Given the description of an element on the screen output the (x, y) to click on. 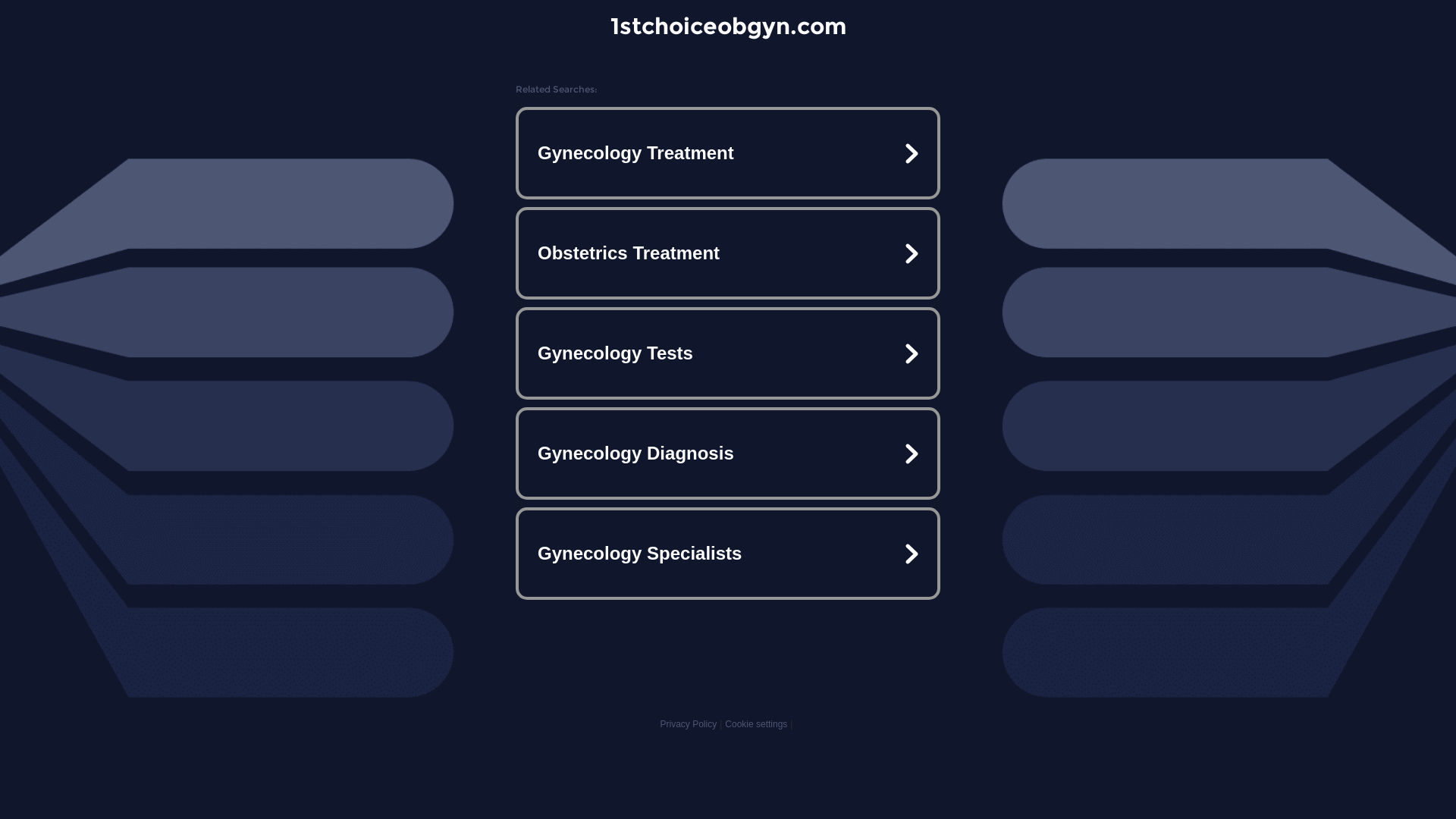
Obstetrics Treatment Element type: text (727, 253)
Gynecology Specialists Element type: text (727, 553)
1stchoiceobgyn.com Element type: text (727, 26)
Cookie settings Element type: text (755, 723)
Privacy Policy Element type: text (687, 723)
Gynecology Diagnosis Element type: text (727, 453)
Gynecology Tests Element type: text (727, 353)
Gynecology Treatment Element type: text (727, 152)
